Given the description of an element on the screen output the (x, y) to click on. 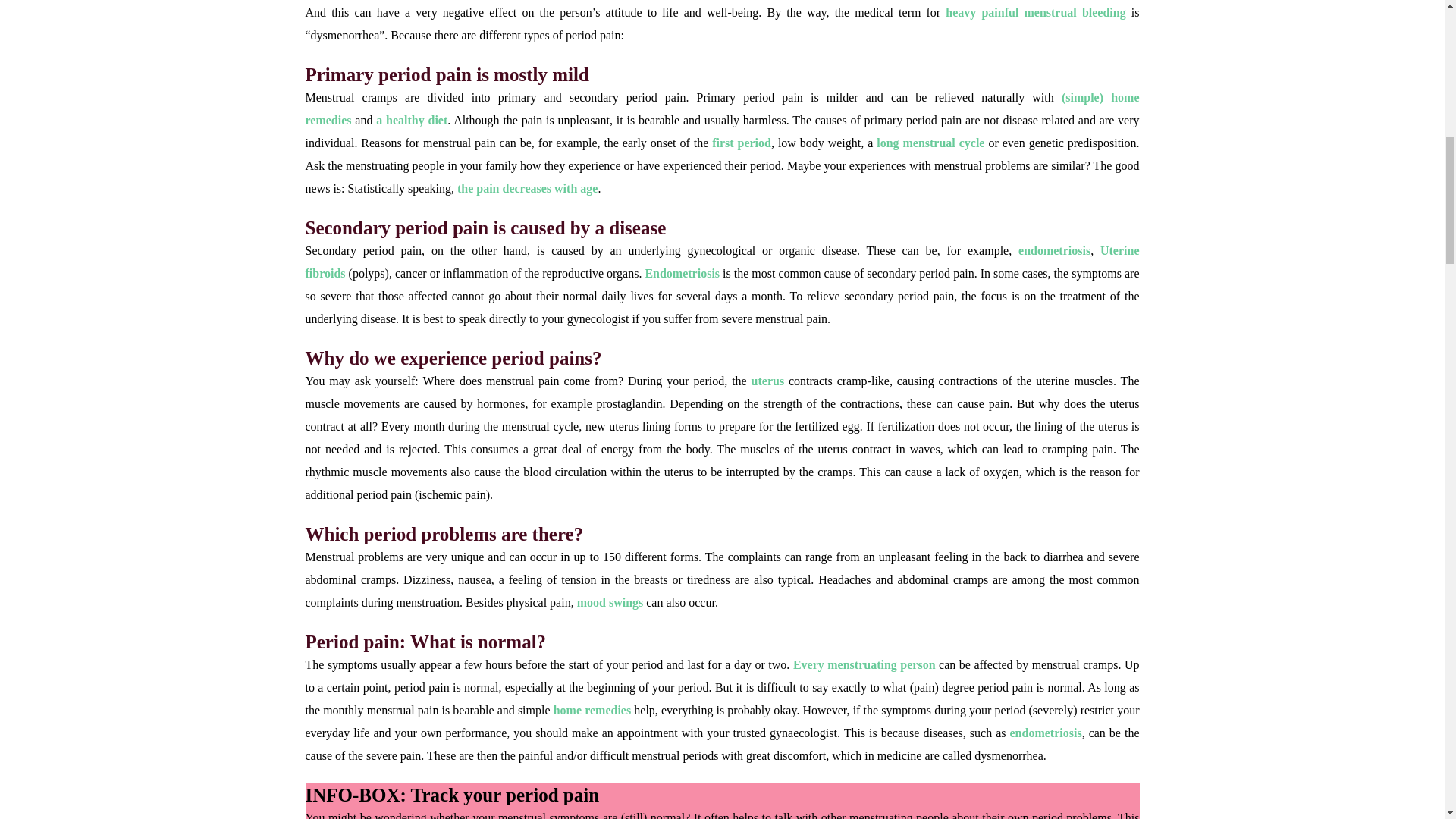
endometriosis (1053, 250)
long menstrual cycle (930, 142)
Endometriosis (682, 273)
uterus  (770, 380)
Every menstruating person (864, 664)
heavy painful menstrual bleeding (1034, 11)
mood swings (609, 602)
a healthy diet (410, 119)
the pain decreases with age (526, 187)
first period (741, 142)
